Given the description of an element on the screen output the (x, y) to click on. 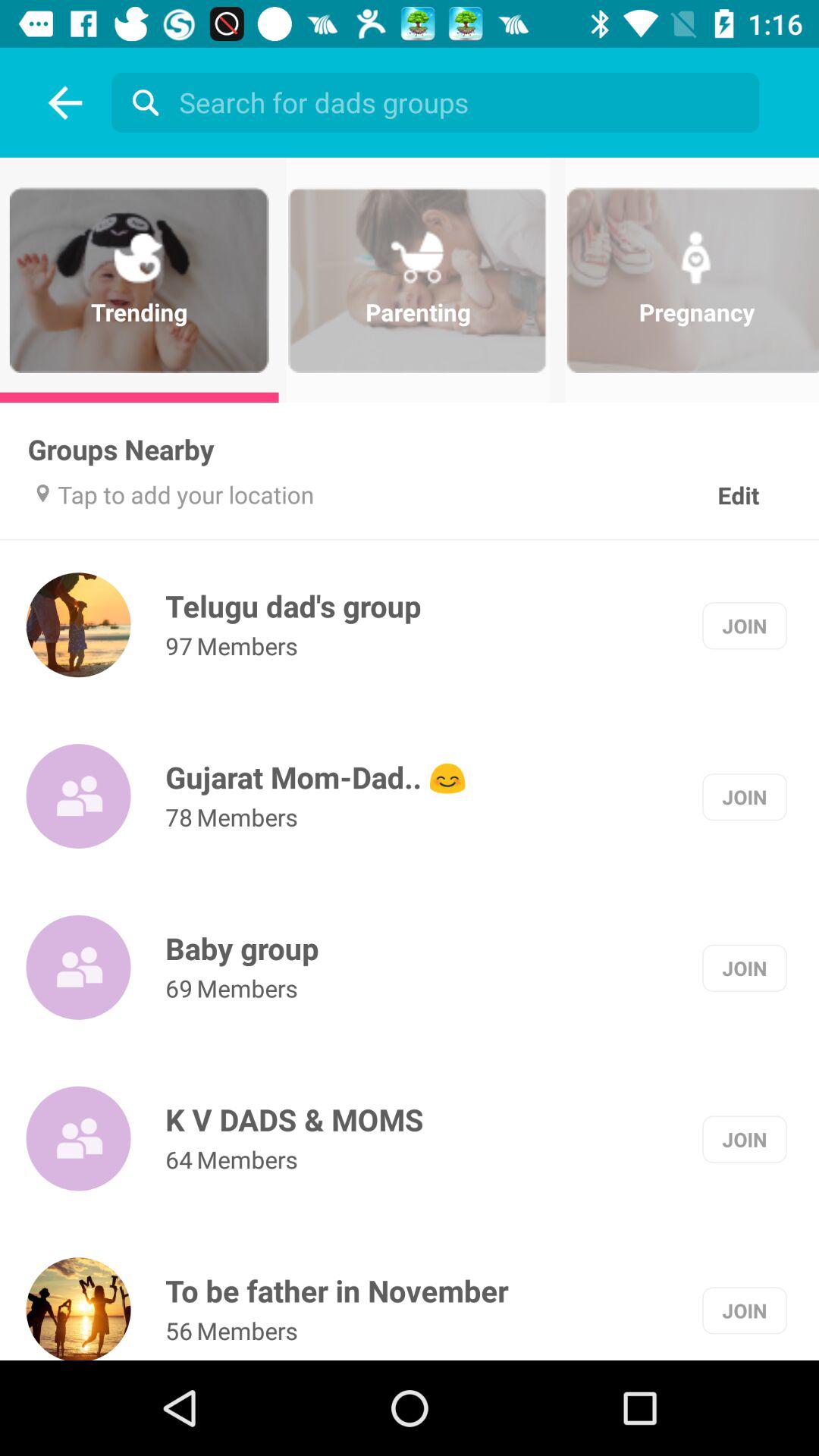
jump until baby group (242, 948)
